Given the description of an element on the screen output the (x, y) to click on. 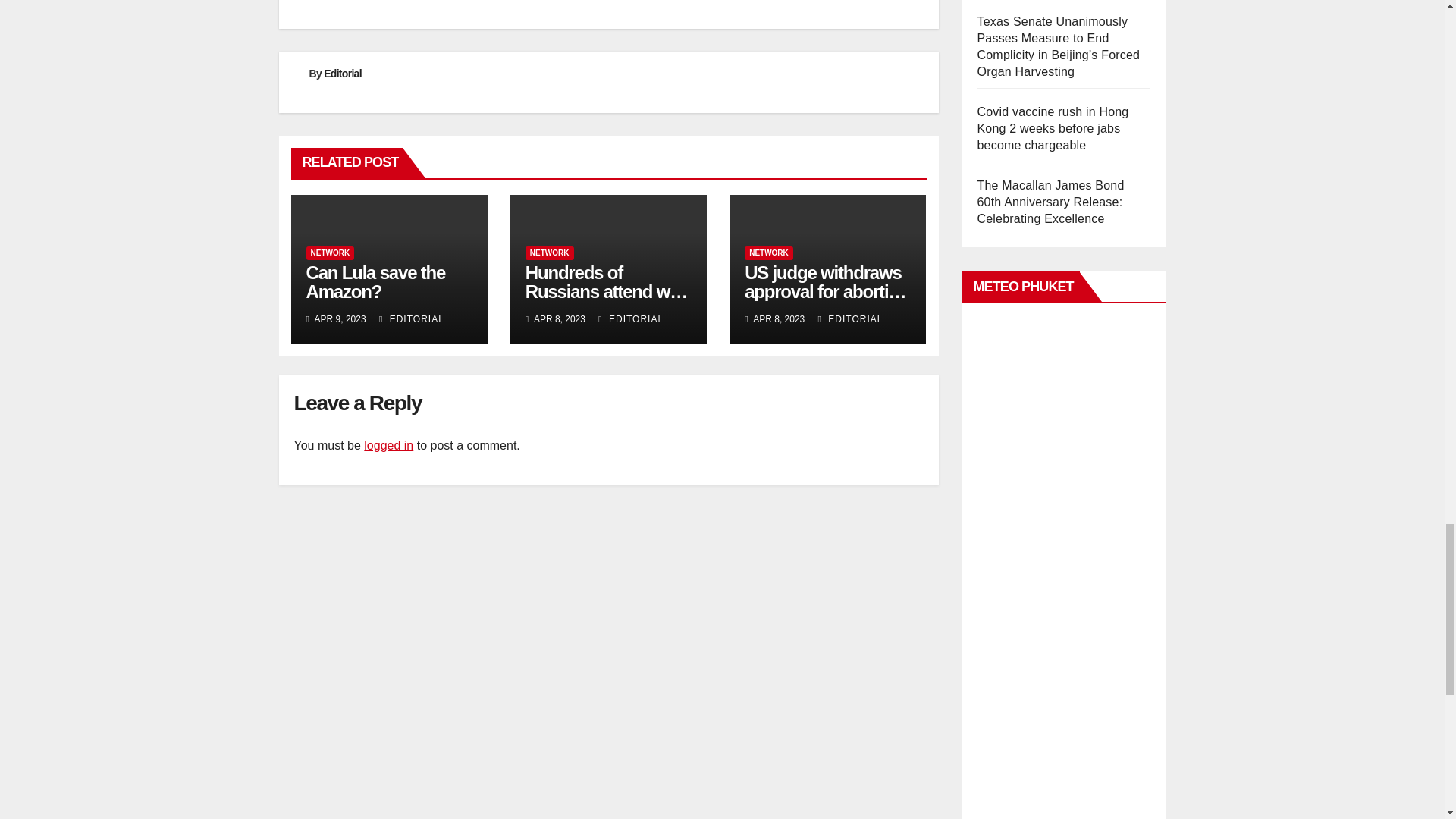
Editorial (342, 73)
NETWORK (330, 253)
EDITORIAL (411, 318)
NETWORK (549, 253)
Permalink to: Can Lula save the Amazon? (375, 282)
Can Lula save the Amazon? (375, 282)
